Given the description of an element on the screen output the (x, y) to click on. 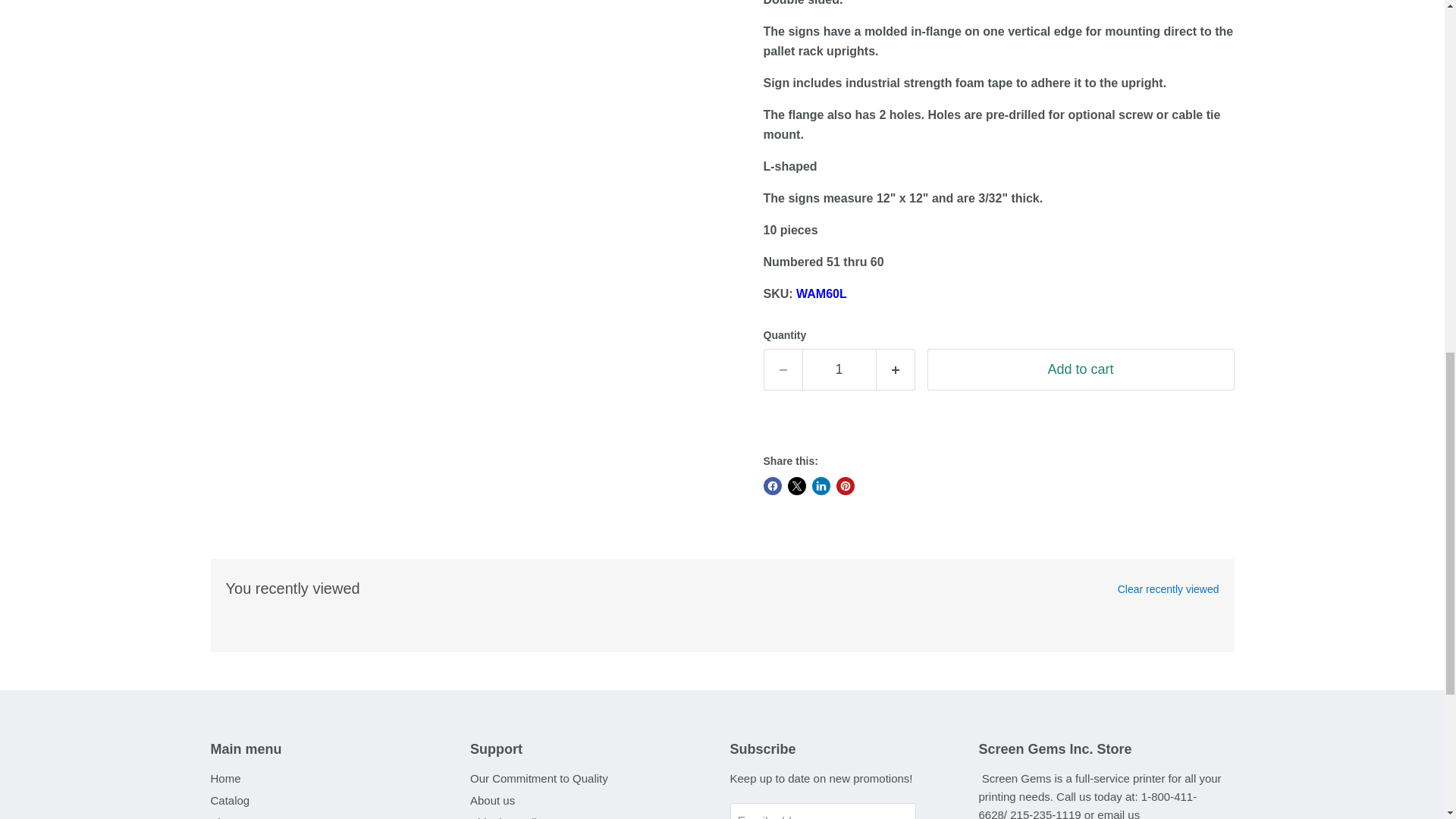
1 (839, 369)
